Given the description of an element on the screen output the (x, y) to click on. 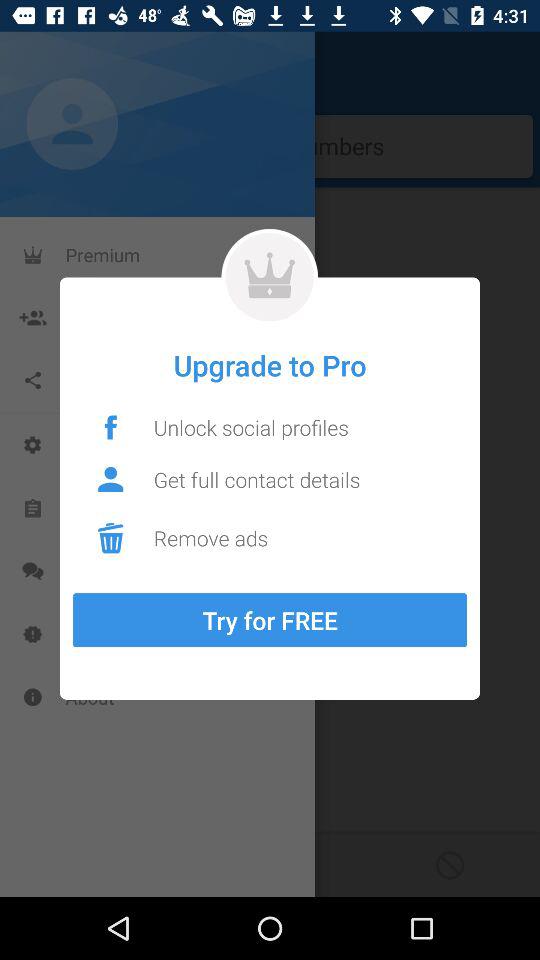
press icon below remove ads (269, 620)
